Given the description of an element on the screen output the (x, y) to click on. 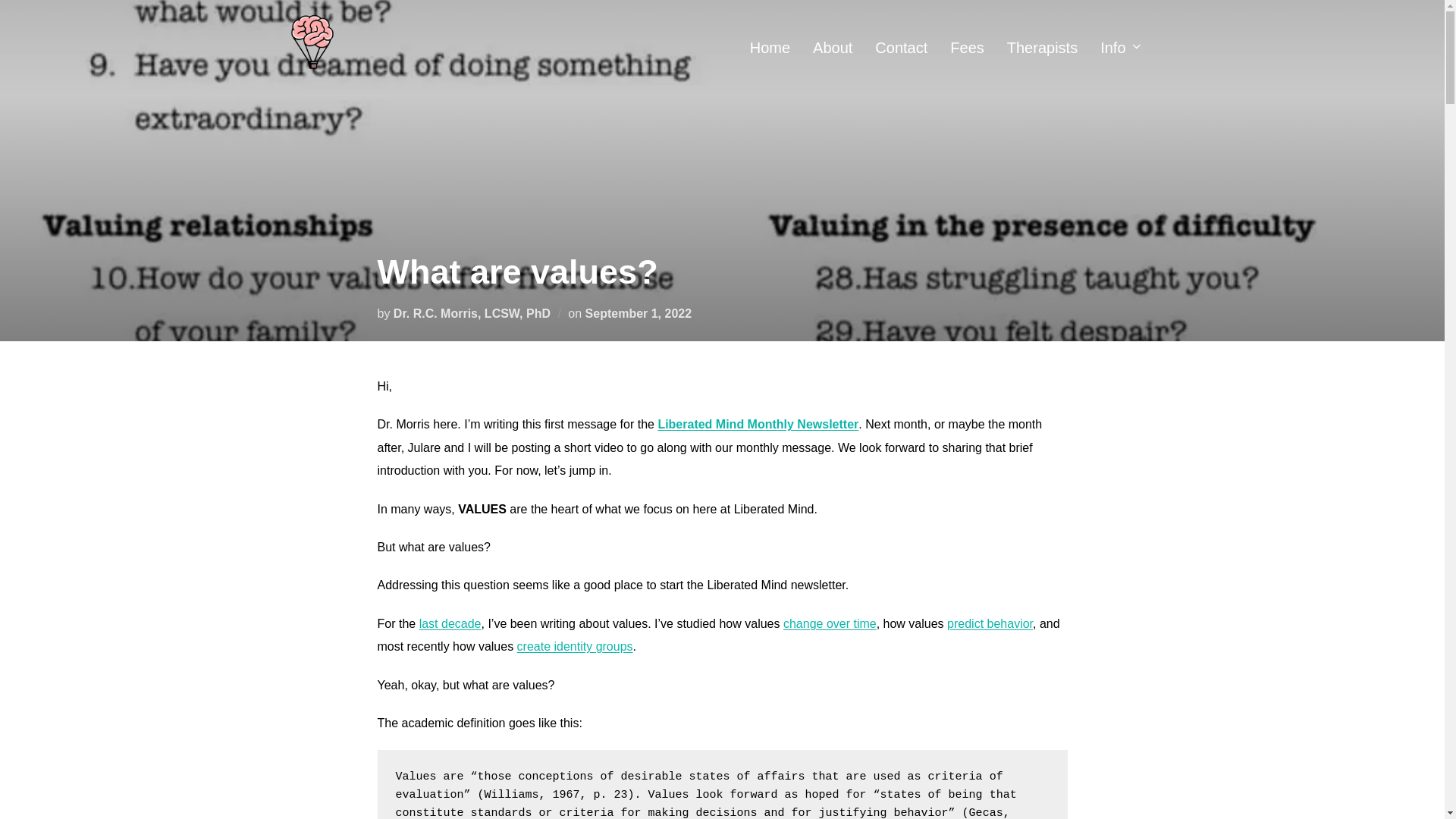
Home (769, 47)
September 1, 2022 (639, 312)
Fees (967, 47)
Info (1121, 47)
Dr. R.C. Morris, LCSW, PhD (471, 312)
Contact (901, 47)
About (831, 47)
Therapists (1042, 47)
